Given the description of an element on the screen output the (x, y) to click on. 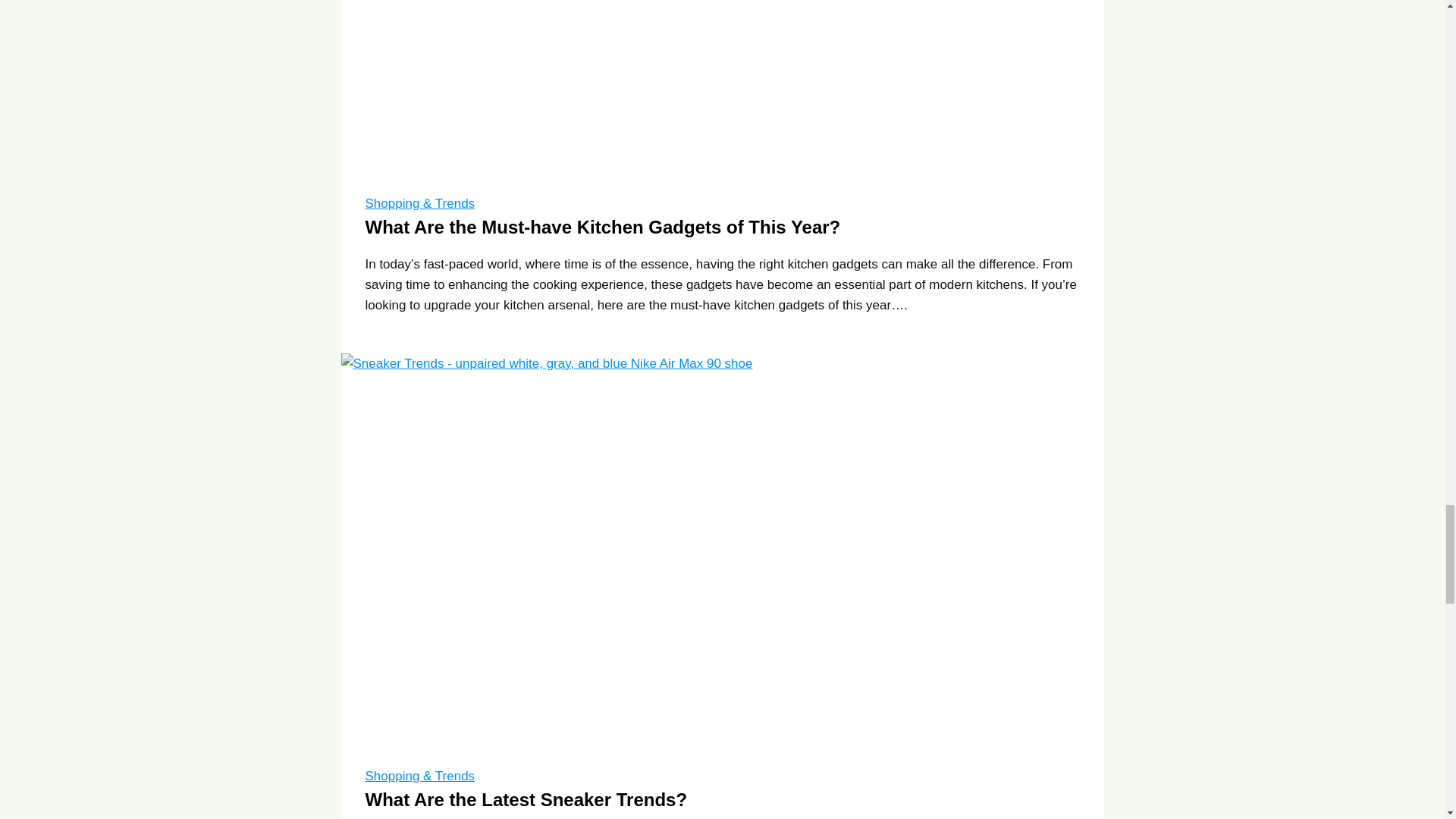
What Are the Must-have Kitchen Gadgets of This Year? (603, 227)
What Are the Latest Sneaker Trends? (526, 799)
